Given the description of an element on the screen output the (x, y) to click on. 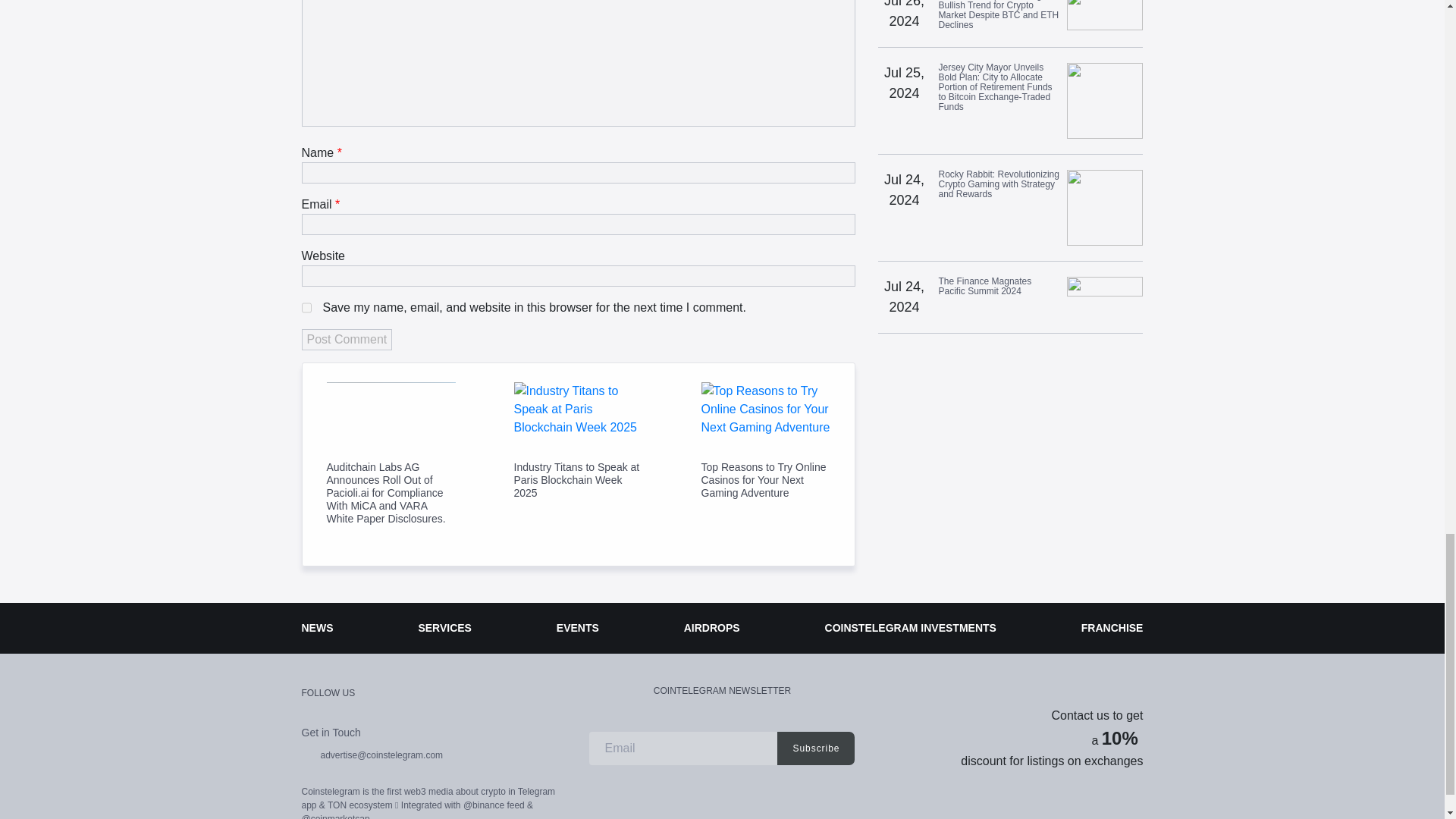
Industry Titans to Speak at Paris Blockchain Week 2025 (578, 480)
Post Comment (347, 339)
Post Comment (347, 339)
